Given the description of an element on the screen output the (x, y) to click on. 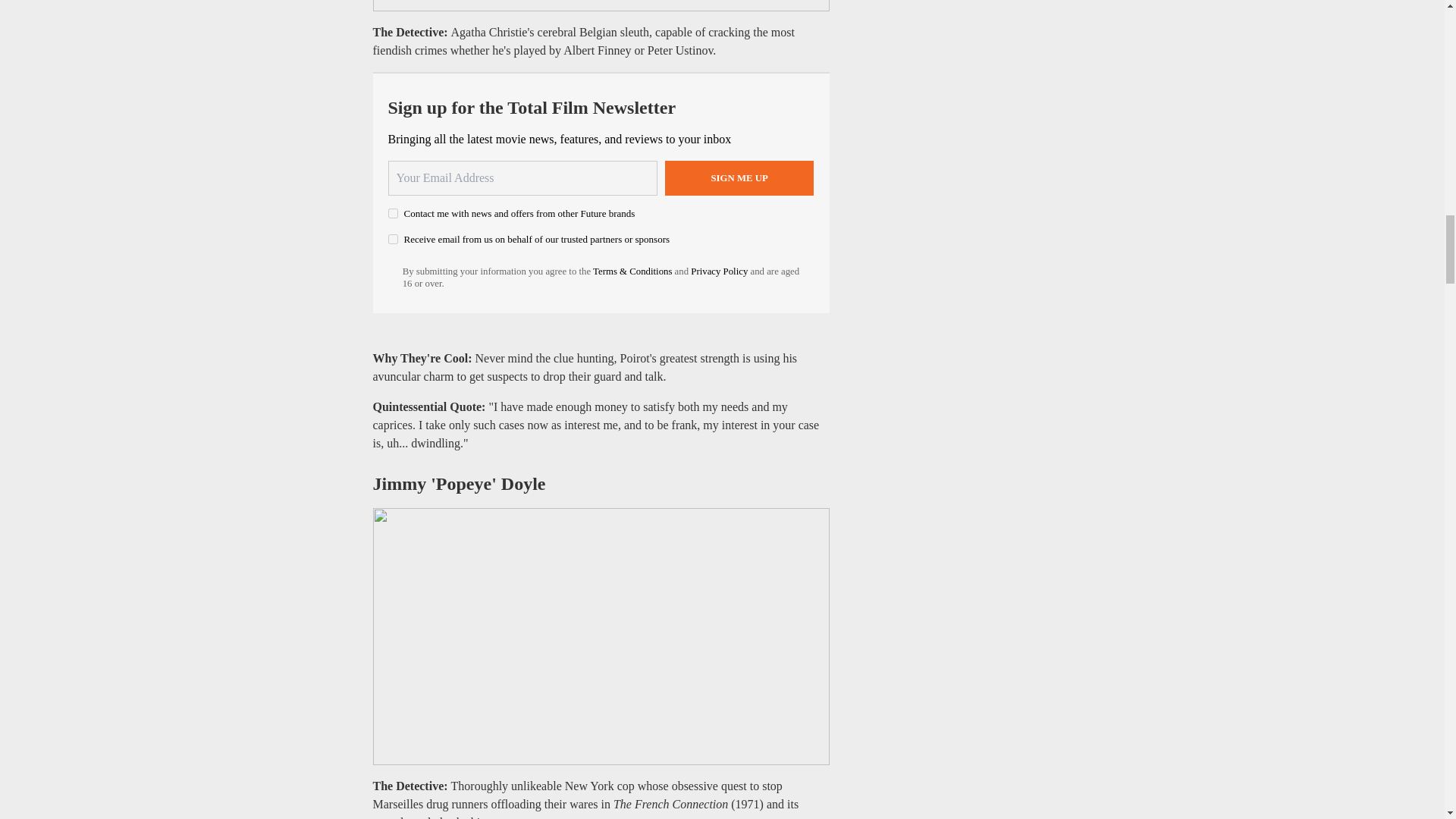
on (392, 213)
Sign me up (739, 177)
on (392, 239)
